Given the description of an element on the screen output the (x, y) to click on. 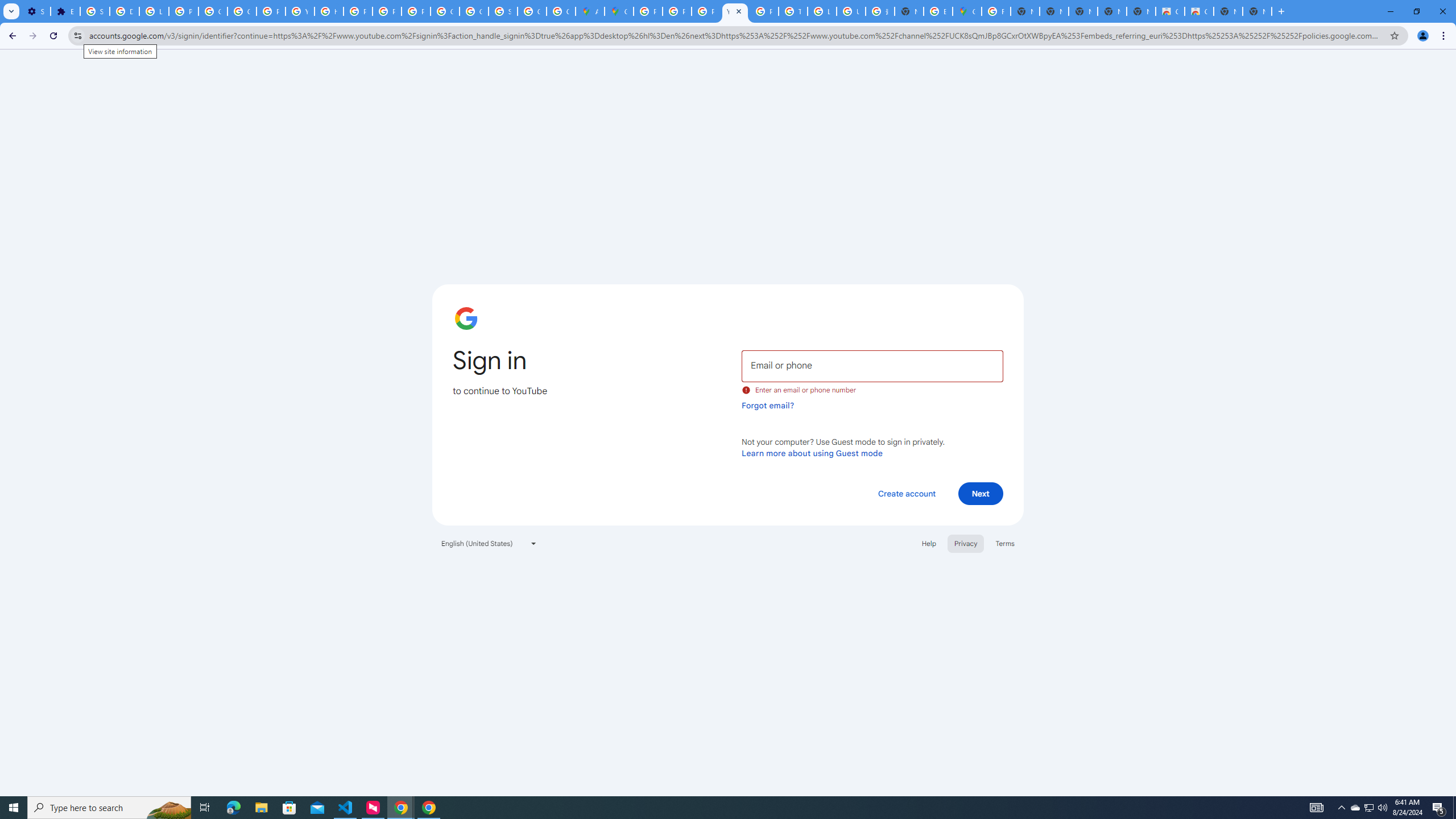
YouTube (300, 11)
Settings - On startup (35, 11)
Privacy Help Center - Policies Help (705, 11)
Google Maps (619, 11)
